Given the description of an element on the screen output the (x, y) to click on. 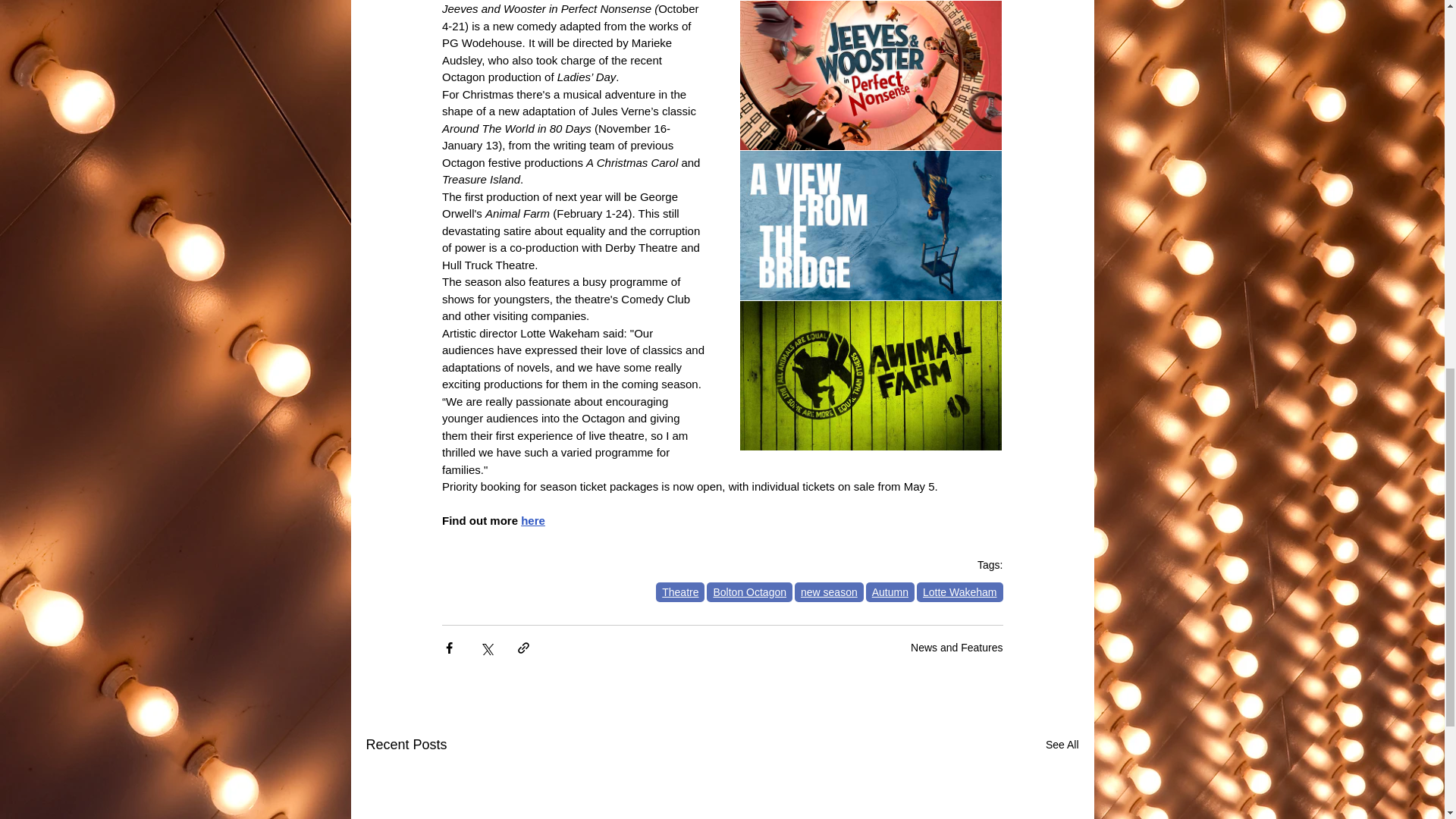
here (532, 520)
Bolton Octagon (749, 591)
new season (828, 591)
Theatre (680, 591)
